Given the description of an element on the screen output the (x, y) to click on. 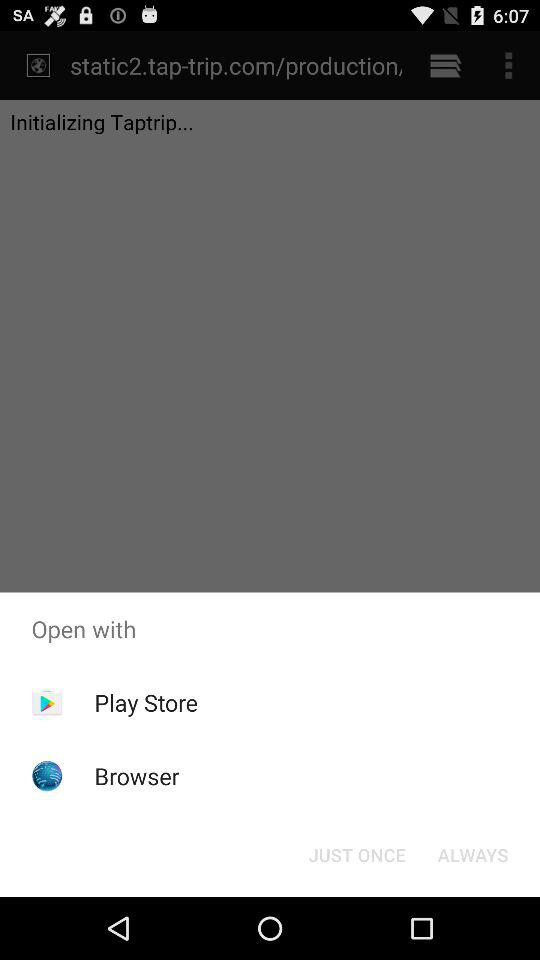
turn off icon to the left of always icon (356, 854)
